Given the description of an element on the screen output the (x, y) to click on. 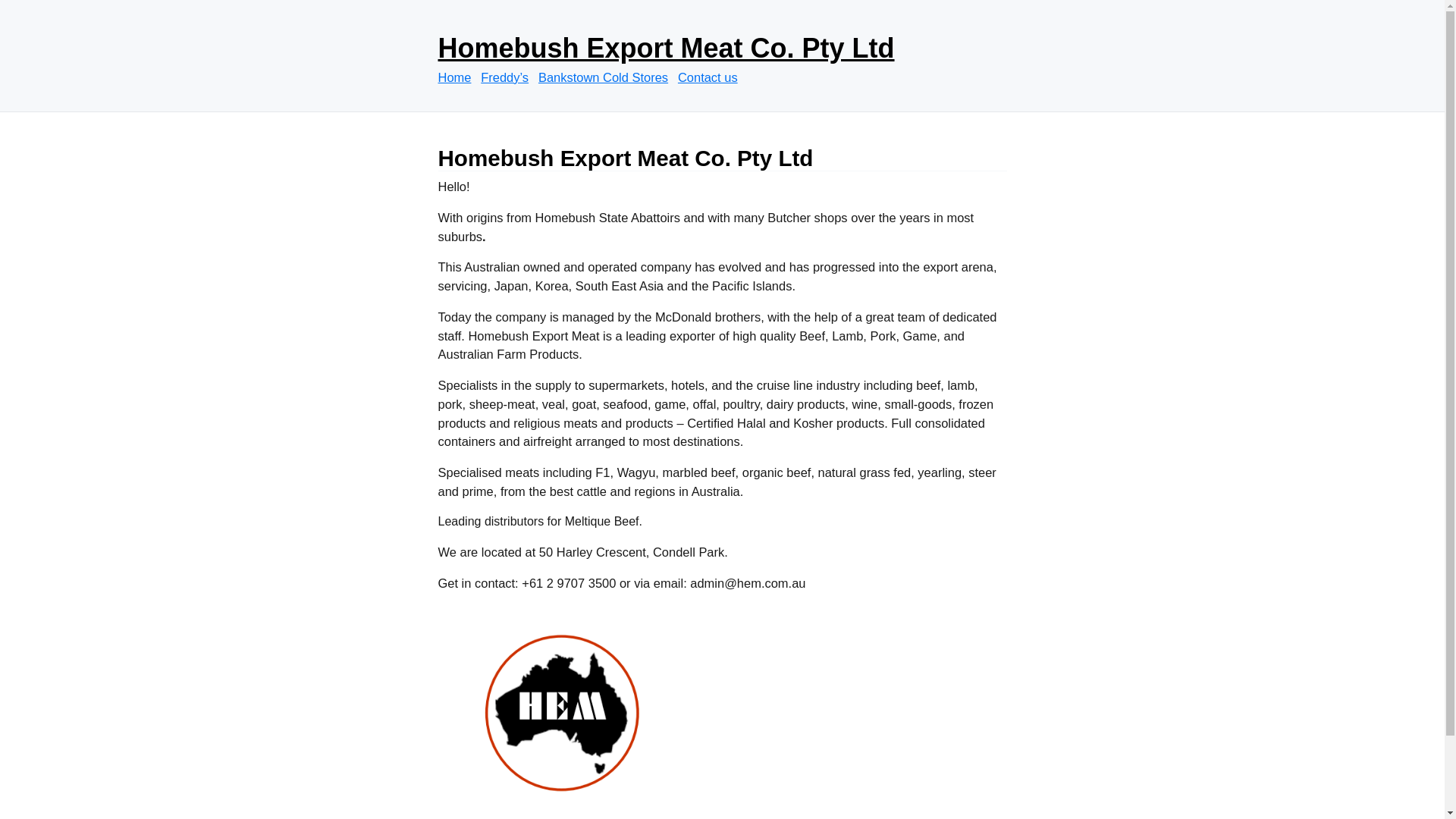
Skip to content Element type: text (436, 24)
Homebush Export Meat Co. Pty Ltd Element type: text (666, 47)
Contact us Element type: text (710, 77)
Home Element type: text (457, 77)
Bankstown Cold Stores Element type: text (606, 77)
